Given the description of an element on the screen output the (x, y) to click on. 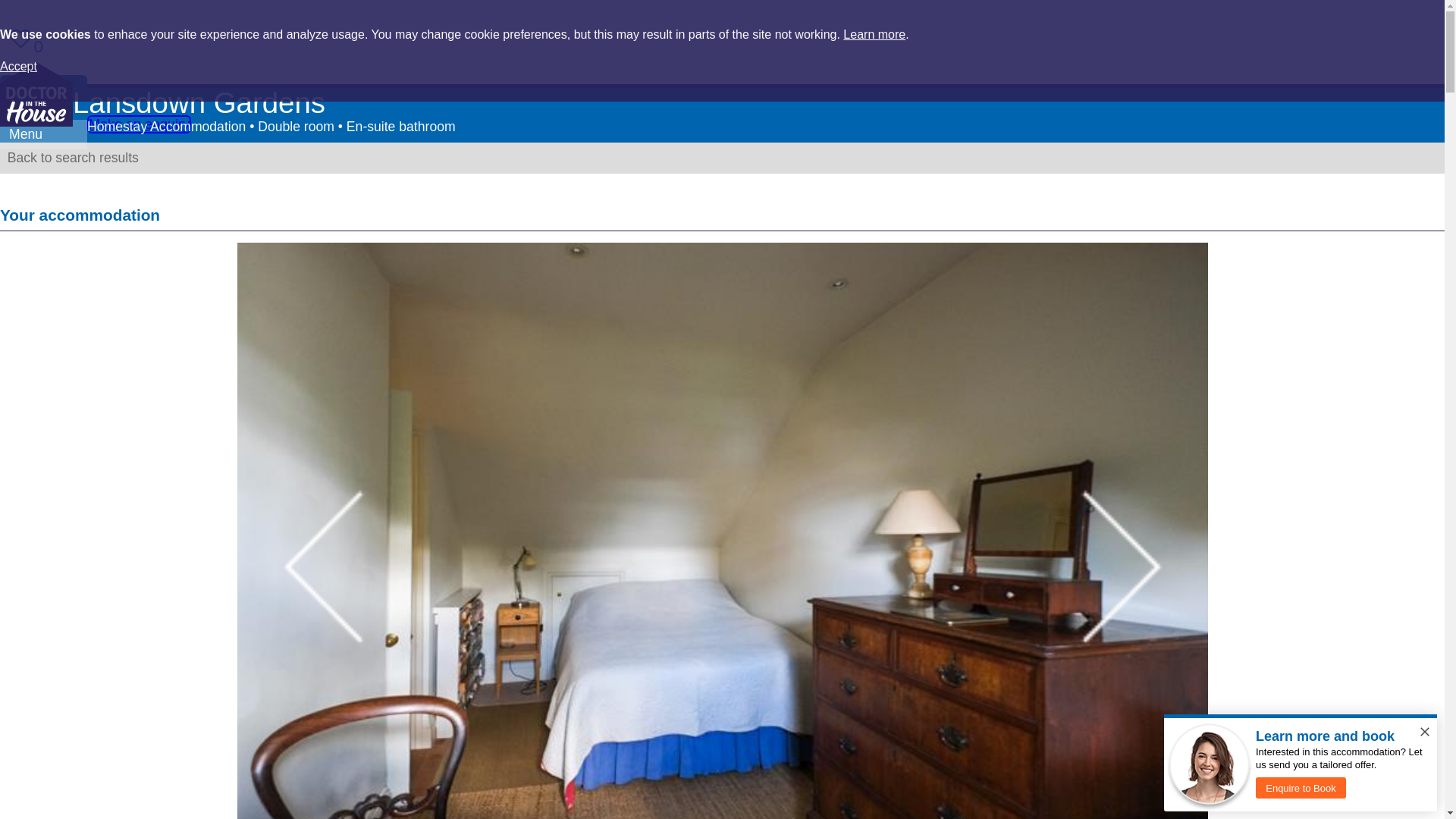
0 (226, 124)
Make an enquiry (138, 124)
Open Cookies Policy (18, 65)
0 (20, 46)
  Back to search results (69, 157)
Menu (43, 134)
Accept (18, 65)
Learn more (874, 33)
